Given the description of an element on the screen output the (x, y) to click on. 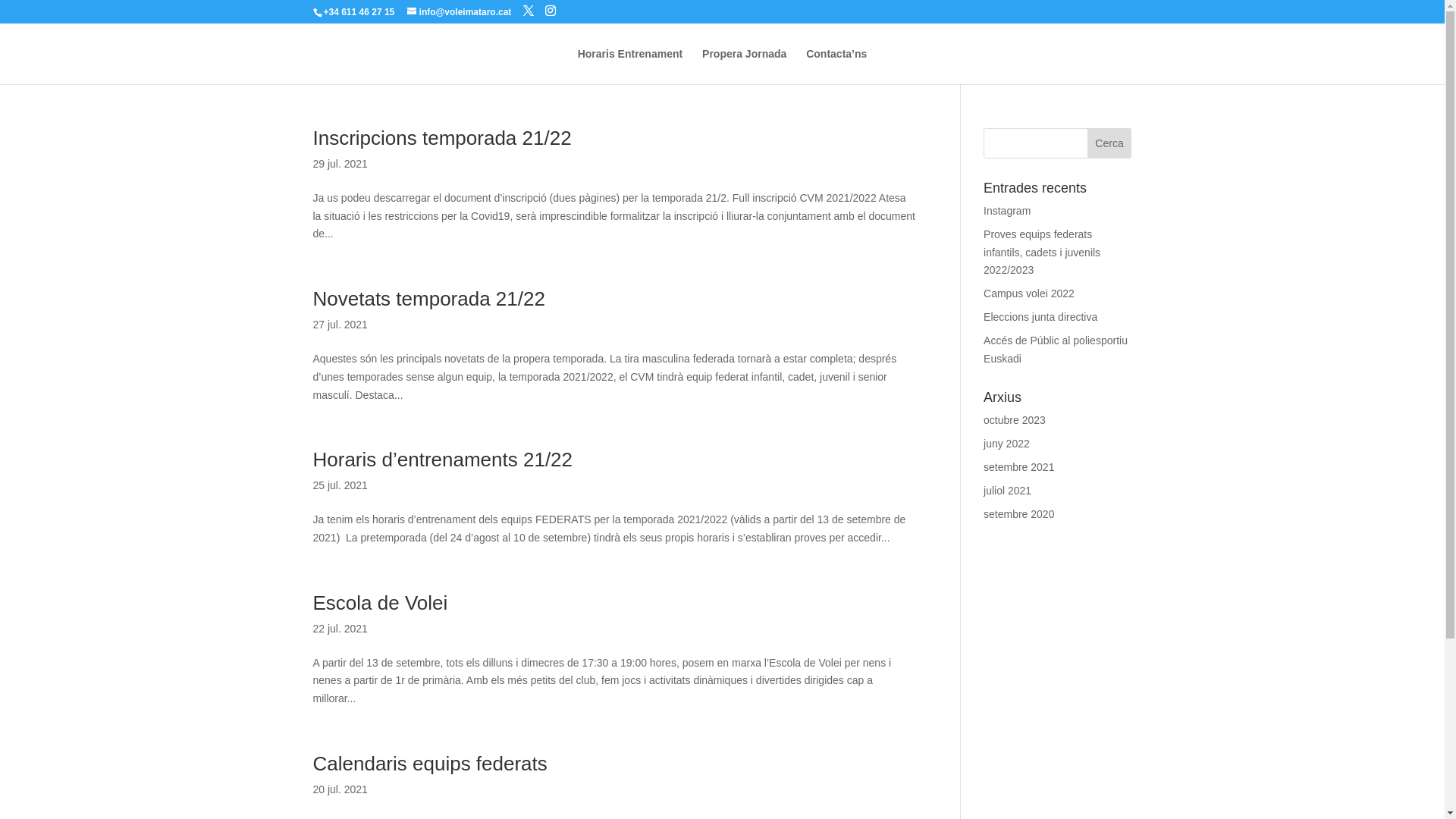
Novetats temporada 21/22 Element type: text (428, 298)
Escola de Volei Element type: text (379, 602)
juny 2022 Element type: text (1006, 443)
Horaris Entrenament Element type: text (629, 66)
juliol 2021 Element type: text (1007, 490)
setembre 2021 Element type: text (1018, 467)
octubre 2023 Element type: text (1014, 420)
Calendaris equips federats Element type: text (429, 763)
Campus volei 2022 Element type: text (1028, 293)
Instagram Element type: text (1006, 210)
Cerca Element type: text (1109, 143)
Eleccions junta directiva Element type: text (1040, 316)
Propera Jornada Element type: text (744, 66)
setembre 2020 Element type: text (1018, 514)
Inscripcions temporada 21/22 Element type: text (441, 137)
info@voleimataro.cat Element type: text (459, 11)
